Given the description of an element on the screen output the (x, y) to click on. 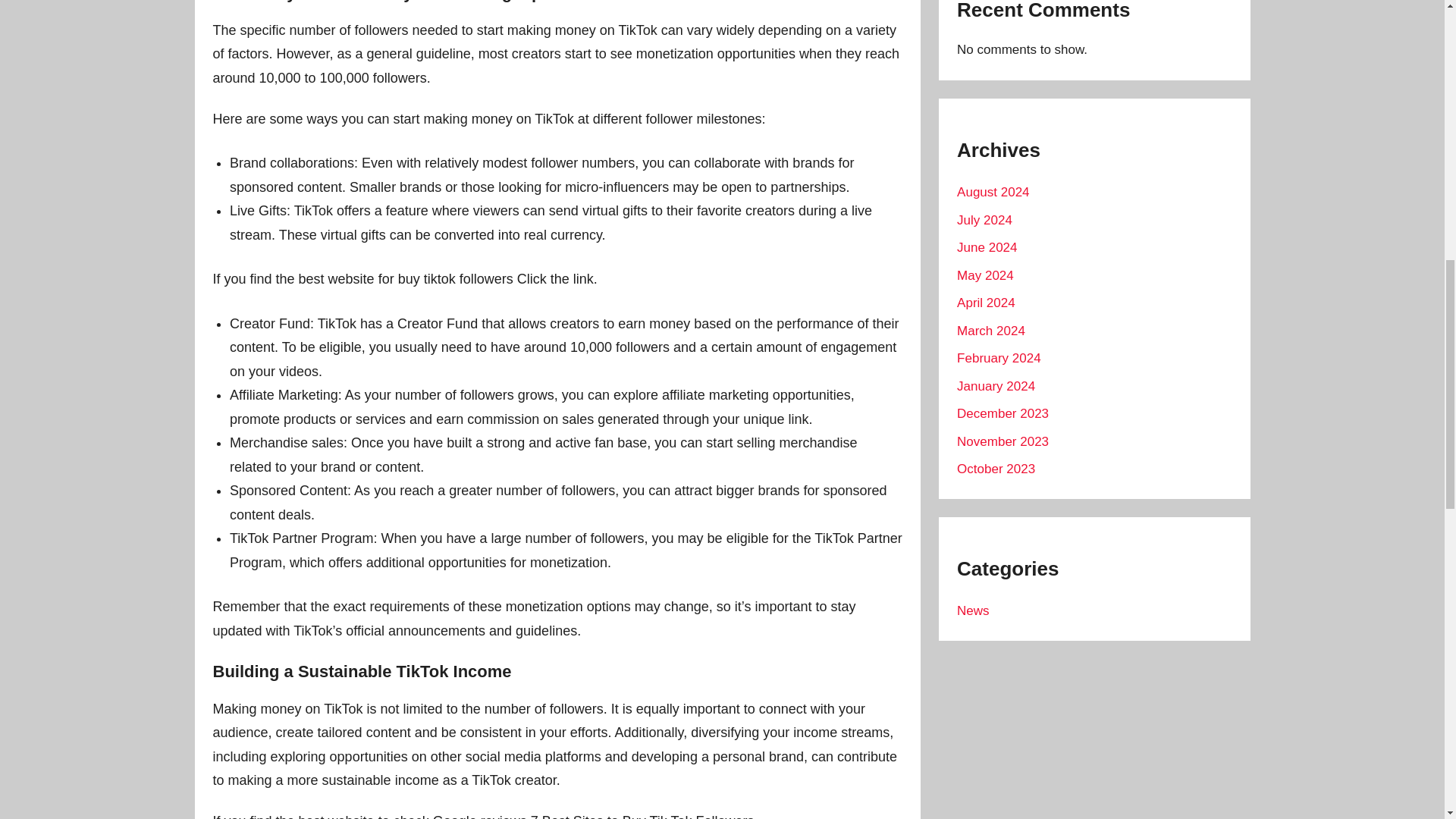
March 2024 (990, 330)
June 2024 (986, 247)
November 2023 (1002, 441)
October 2023 (995, 468)
August 2024 (992, 192)
News (973, 610)
February 2024 (998, 358)
May 2024 (984, 275)
April 2024 (985, 302)
January 2024 (995, 386)
